Given the description of an element on the screen output the (x, y) to click on. 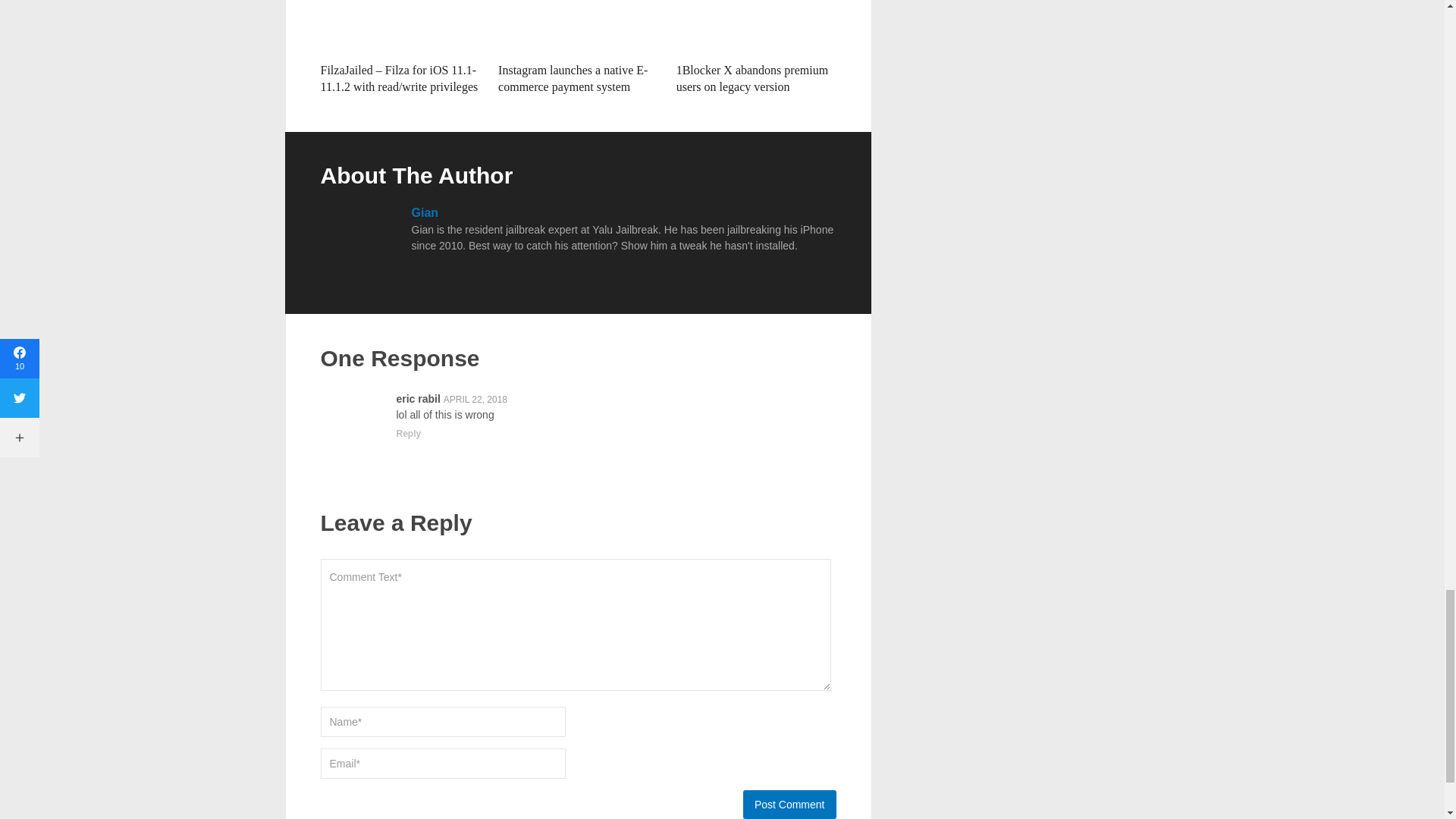
1Blocker X abandons premium users on legacy version (752, 78)
Instagram launches a native E-commerce payment system (577, 27)
Reply (408, 433)
1Blocker X abandons premium users on legacy version (756, 27)
Post Comment (788, 804)
Instagram launches a native E-commerce payment system (572, 78)
Gian (424, 212)
Instagram launches a native E-commerce payment system (572, 78)
